Given the description of an element on the screen output the (x, y) to click on. 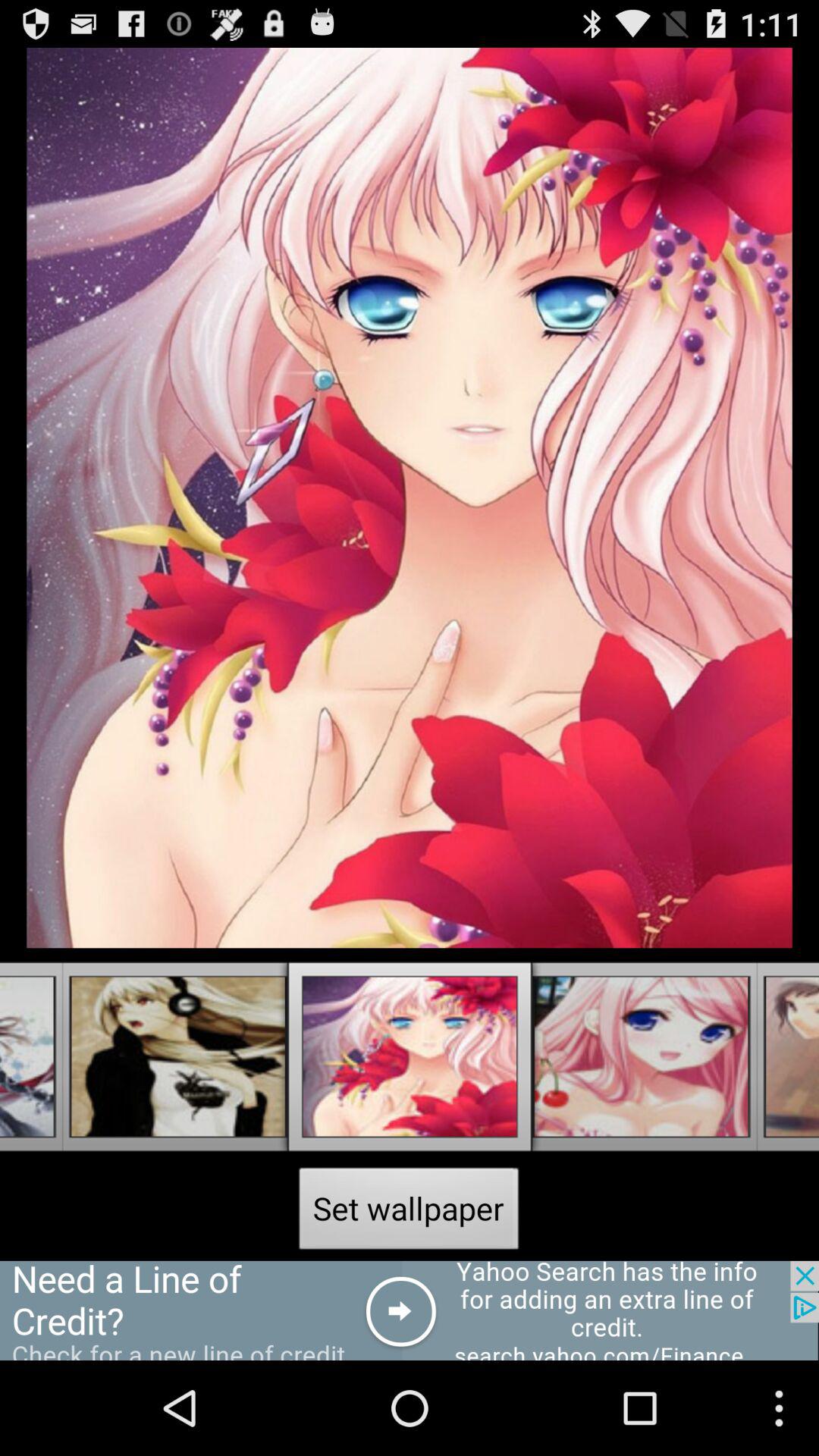
advertisement (409, 1310)
